Given the description of an element on the screen output the (x, y) to click on. 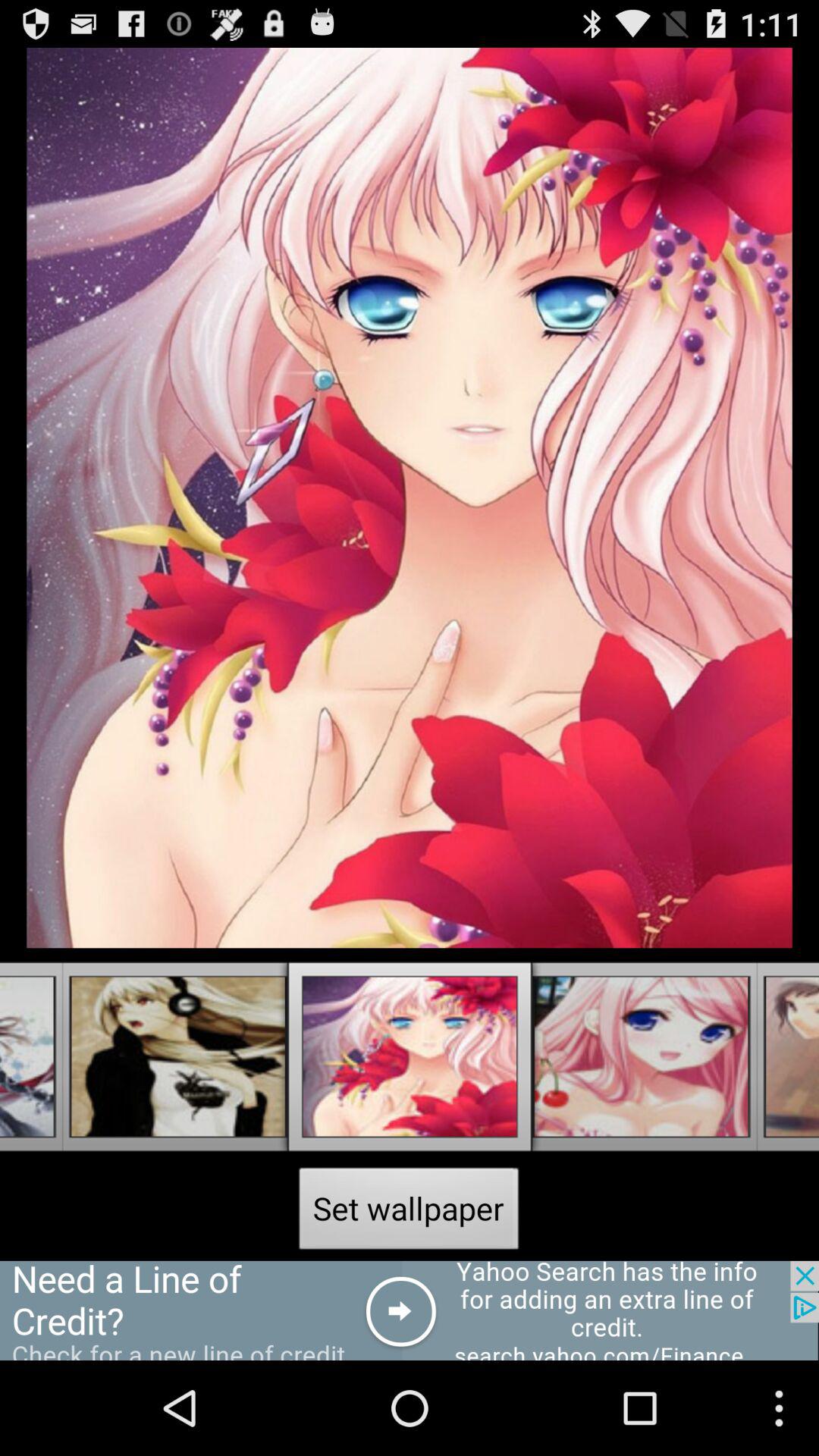
advertisement (409, 1310)
